Given the description of an element on the screen output the (x, y) to click on. 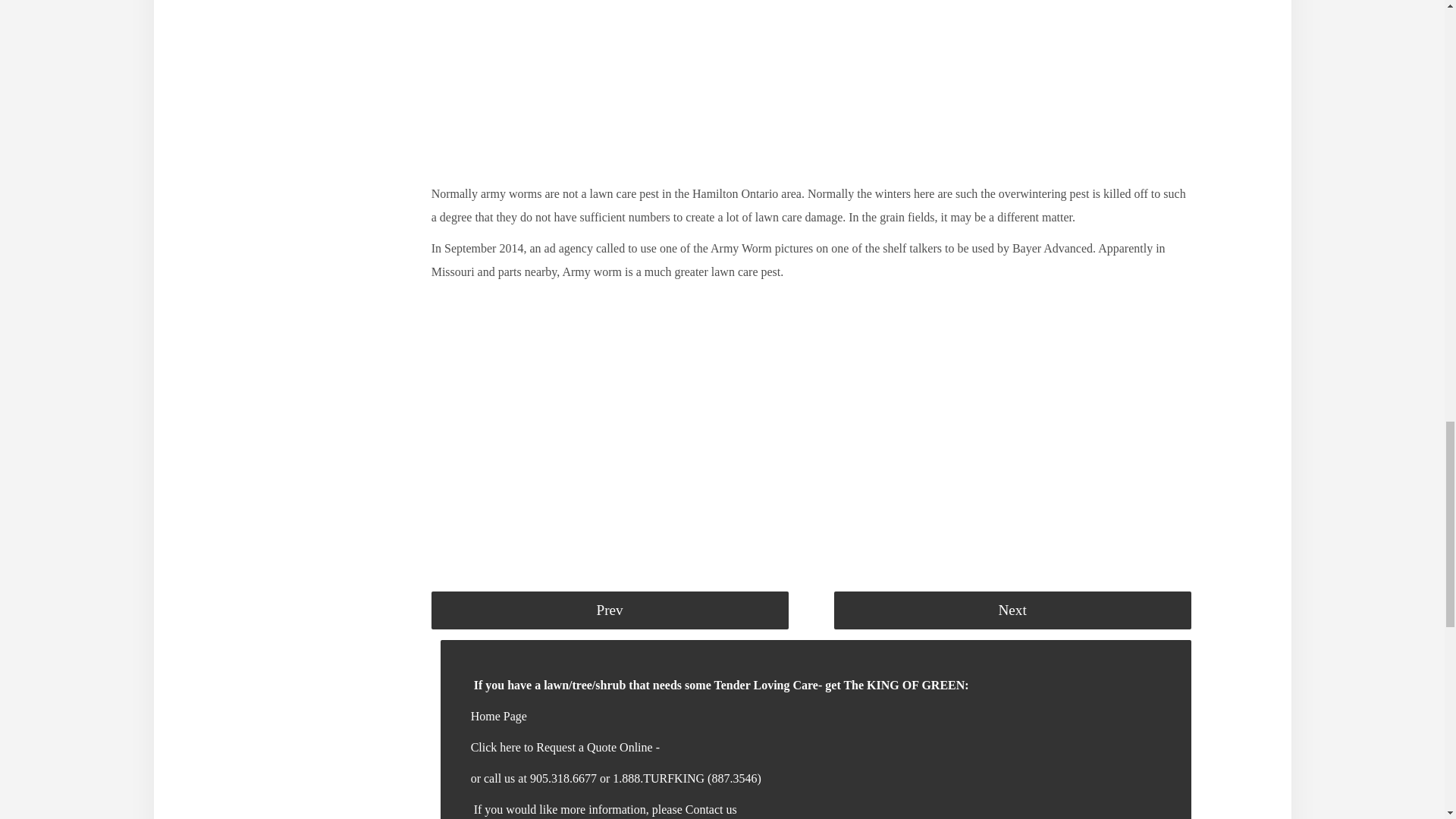
Next (1012, 610)
Home Page (498, 716)
Go to the Home Page (498, 716)
Click here to Request a Quote Online  (563, 747)
Contact us (710, 809)
Prev (609, 610)
